Given the description of an element on the screen output the (x, y) to click on. 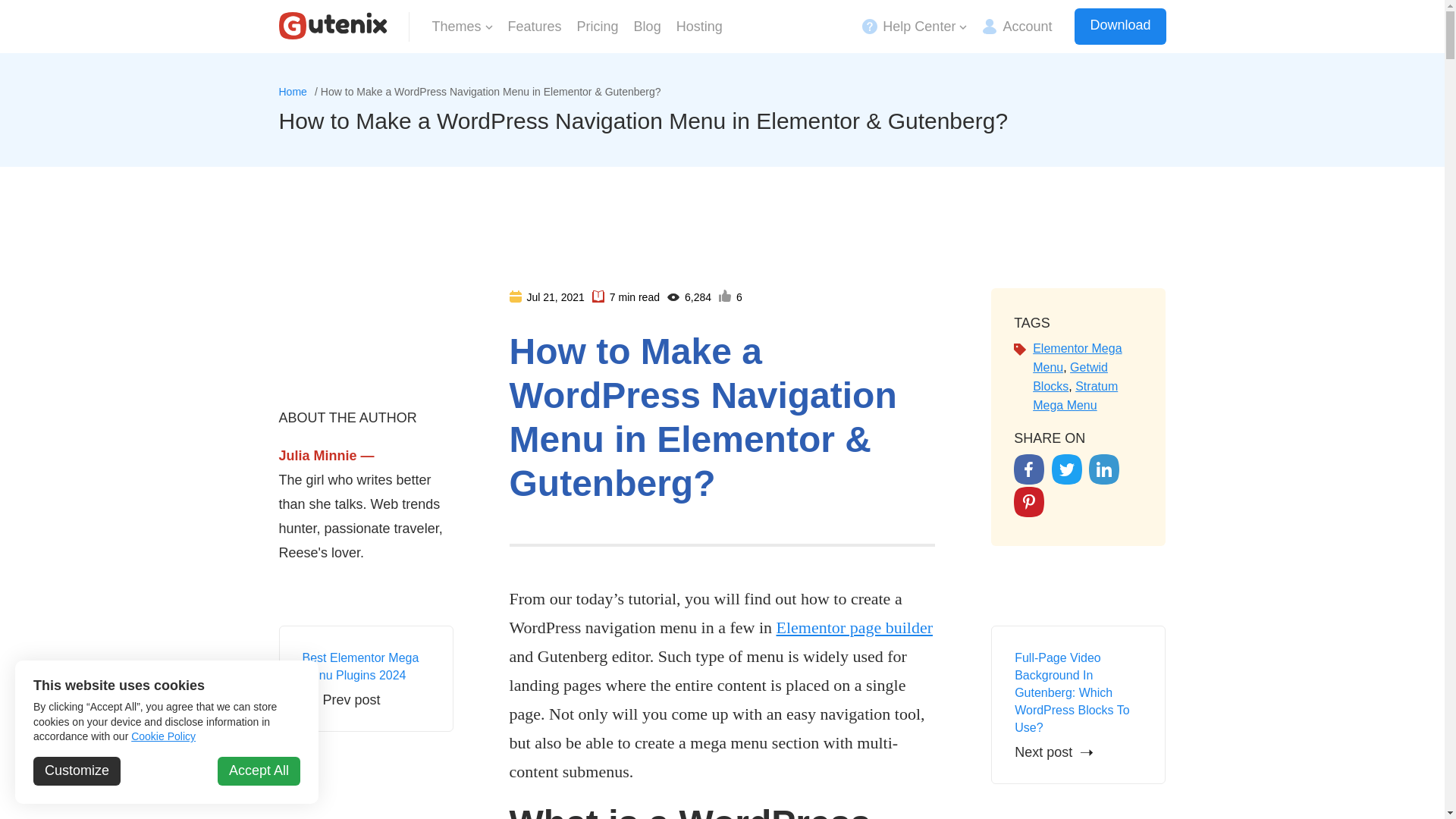
Download (1120, 26)
Hosting (699, 26)
Themes (462, 26)
Features (535, 26)
Account (1016, 26)
Pricing (597, 26)
Blog (647, 26)
